Given the description of an element on the screen output the (x, y) to click on. 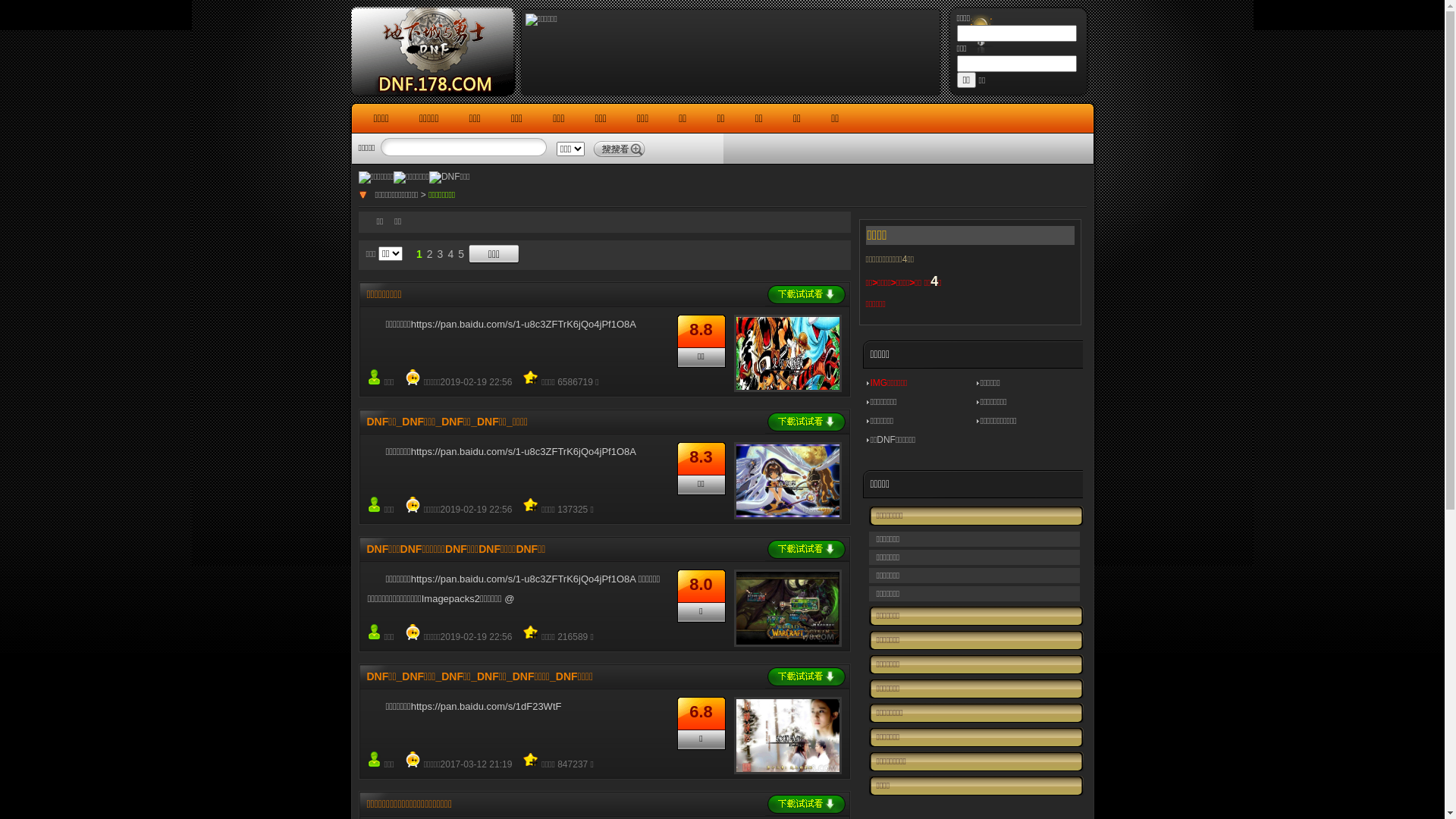
4 Element type: text (450, 253)
2 Element type: text (429, 253)
8.8 Element type: text (700, 329)
3 Element type: text (440, 253)
1 Element type: text (419, 253)
5 Element type: text (461, 253)
6.8 Element type: text (700, 711)
8.3 Element type: text (700, 456)
8.0 Element type: text (700, 583)
